Given the description of an element on the screen output the (x, y) to click on. 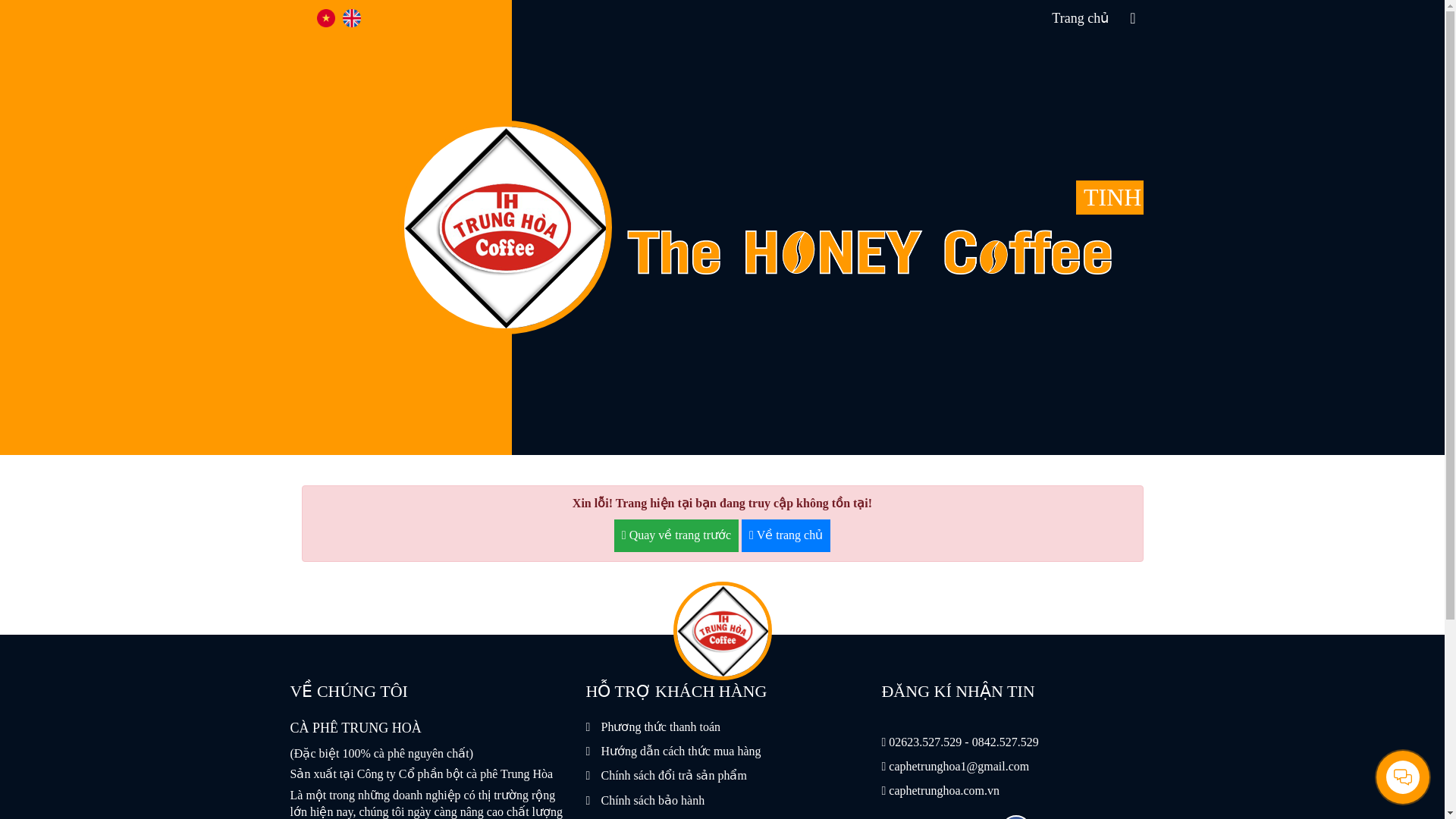
02623.527.529 (924, 741)
0842.527.529 (1005, 741)
caphetrunghoa.com.vn (943, 789)
